Given the description of an element on the screen output the (x, y) to click on. 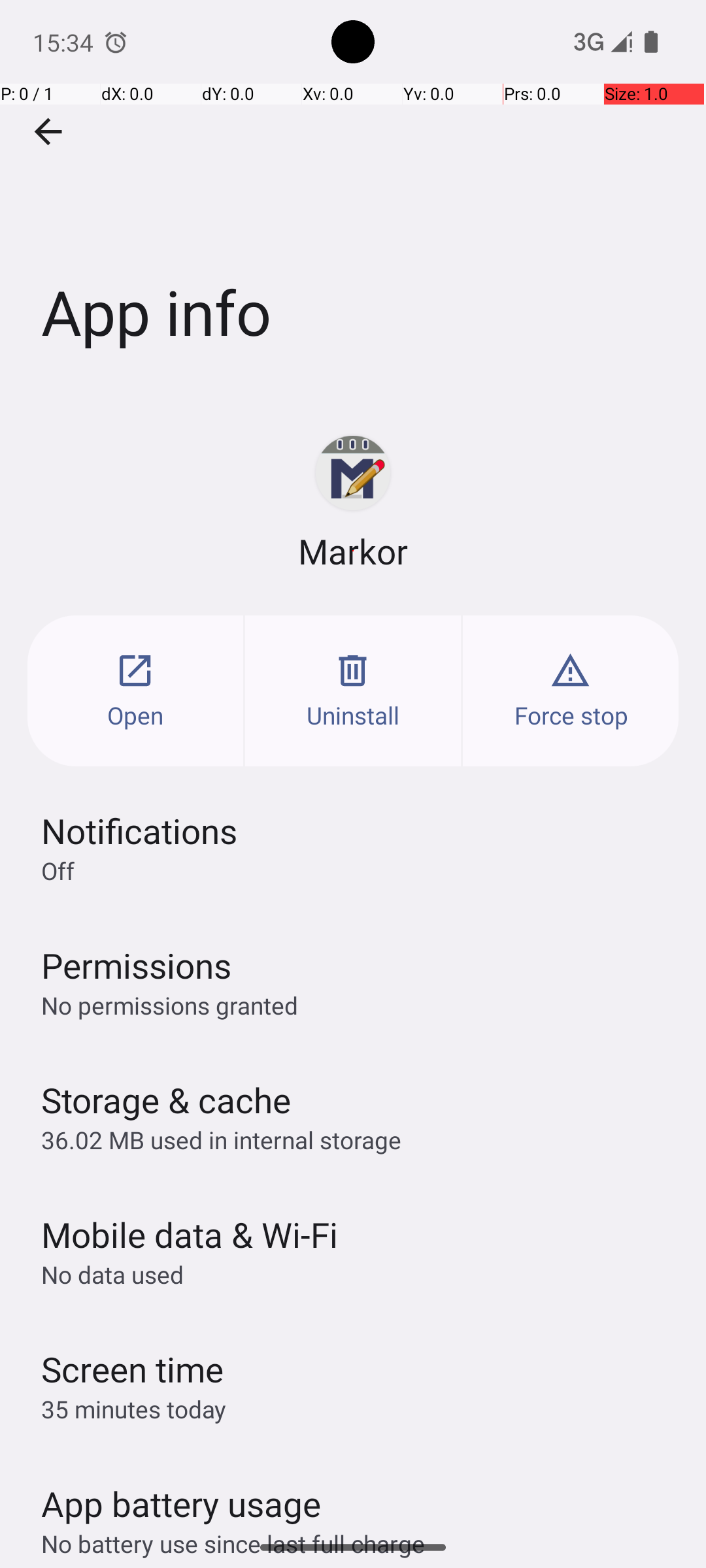
No permissions granted Element type: android.widget.TextView (169, 1004)
36.02 MB used in internal storage Element type: android.widget.TextView (221, 1139)
35 minutes today Element type: android.widget.TextView (133, 1408)
